Given the description of an element on the screen output the (x, y) to click on. 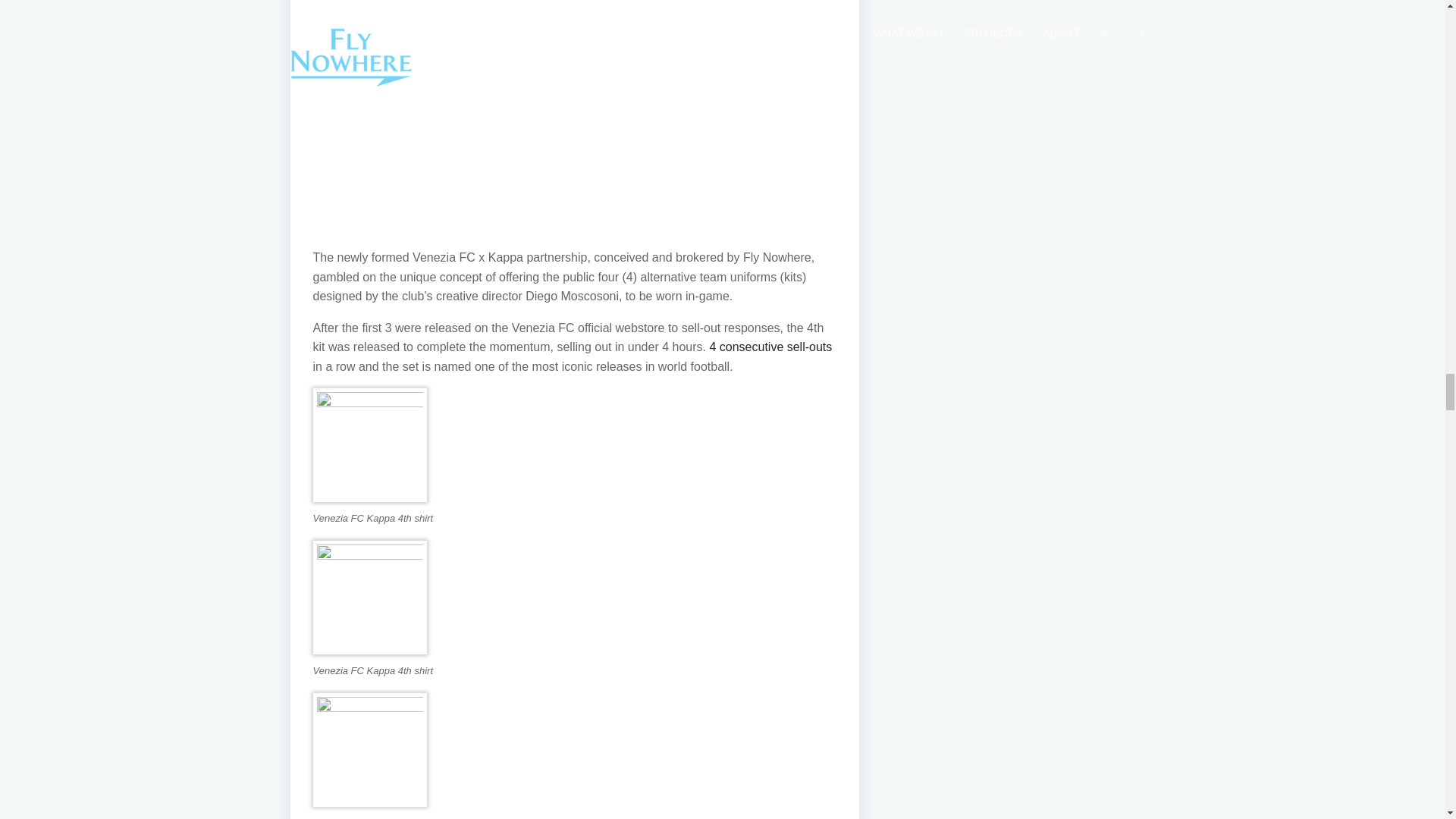
Feature image (574, 106)
